Given the description of an element on the screen output the (x, y) to click on. 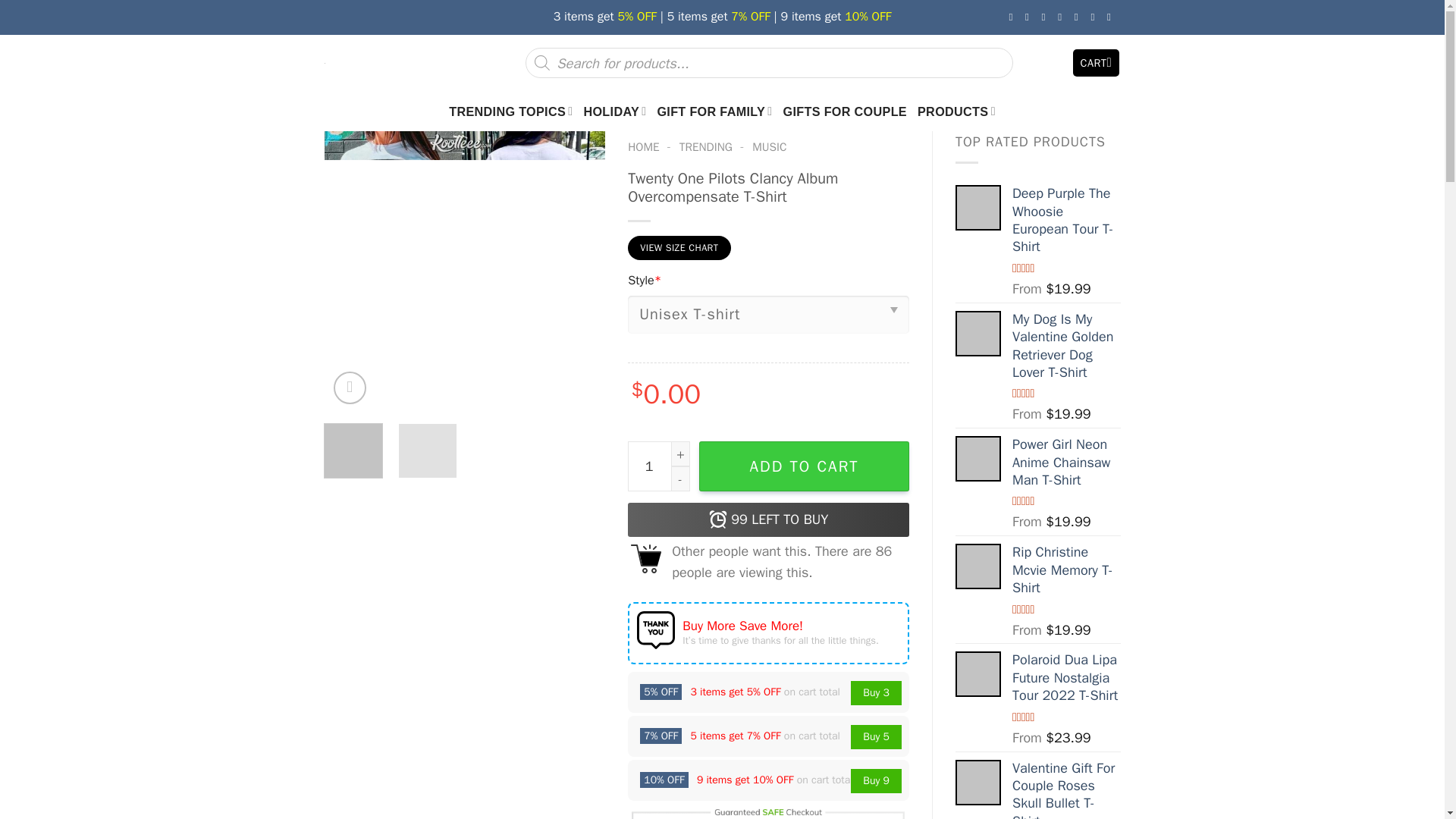
GIFTS FOR COUPLE (845, 111)
Follow on LinkedIn (1095, 16)
Deep Purple The Whoosie European Tour T-Shirt (978, 207)
Follow on Twitter (1047, 16)
My Dog Is My Valentine Golden Retriever Dog Lover T-Shirt (978, 333)
- (680, 478)
HOLIDAY (614, 111)
CART (1096, 62)
Flickr (1112, 16)
1 (658, 466)
Follow on Instagram (1030, 16)
Cart (1096, 62)
Power Girl Neon Anime Chainsaw Man T-Shirt (978, 458)
TRENDING TOPICS (510, 111)
GIFT FOR FAMILY (713, 111)
